Given the description of an element on the screen output the (x, y) to click on. 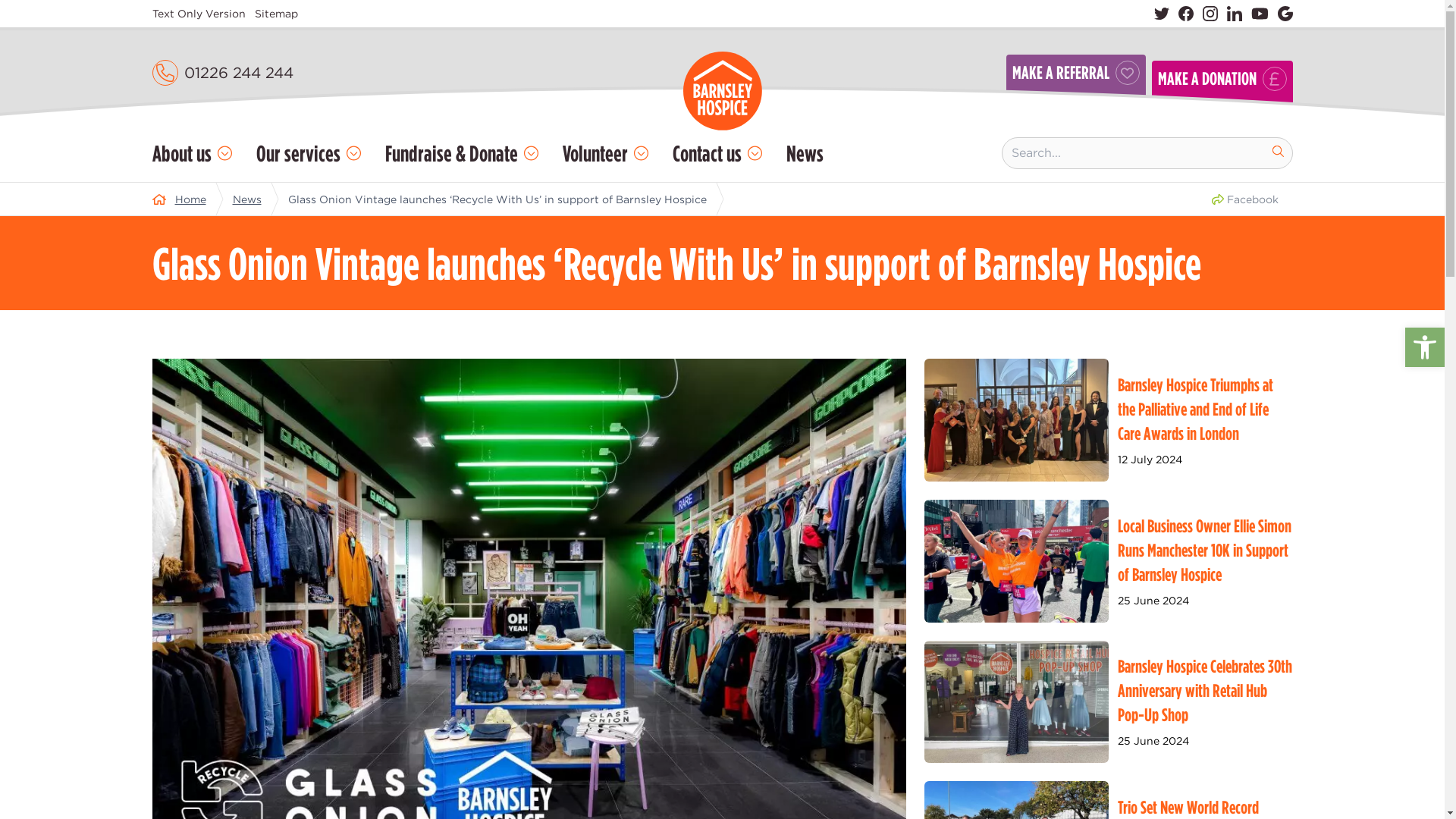
Just Giving (1284, 13)
YouTube (1259, 13)
About us (191, 152)
Instagram (1209, 13)
Our services (308, 152)
01226 244 244 (237, 72)
Sitemap (276, 13)
MAKE A DONATION (1221, 87)
Facebook (1185, 13)
LinkedIn (1234, 13)
